Given the description of an element on the screen output the (x, y) to click on. 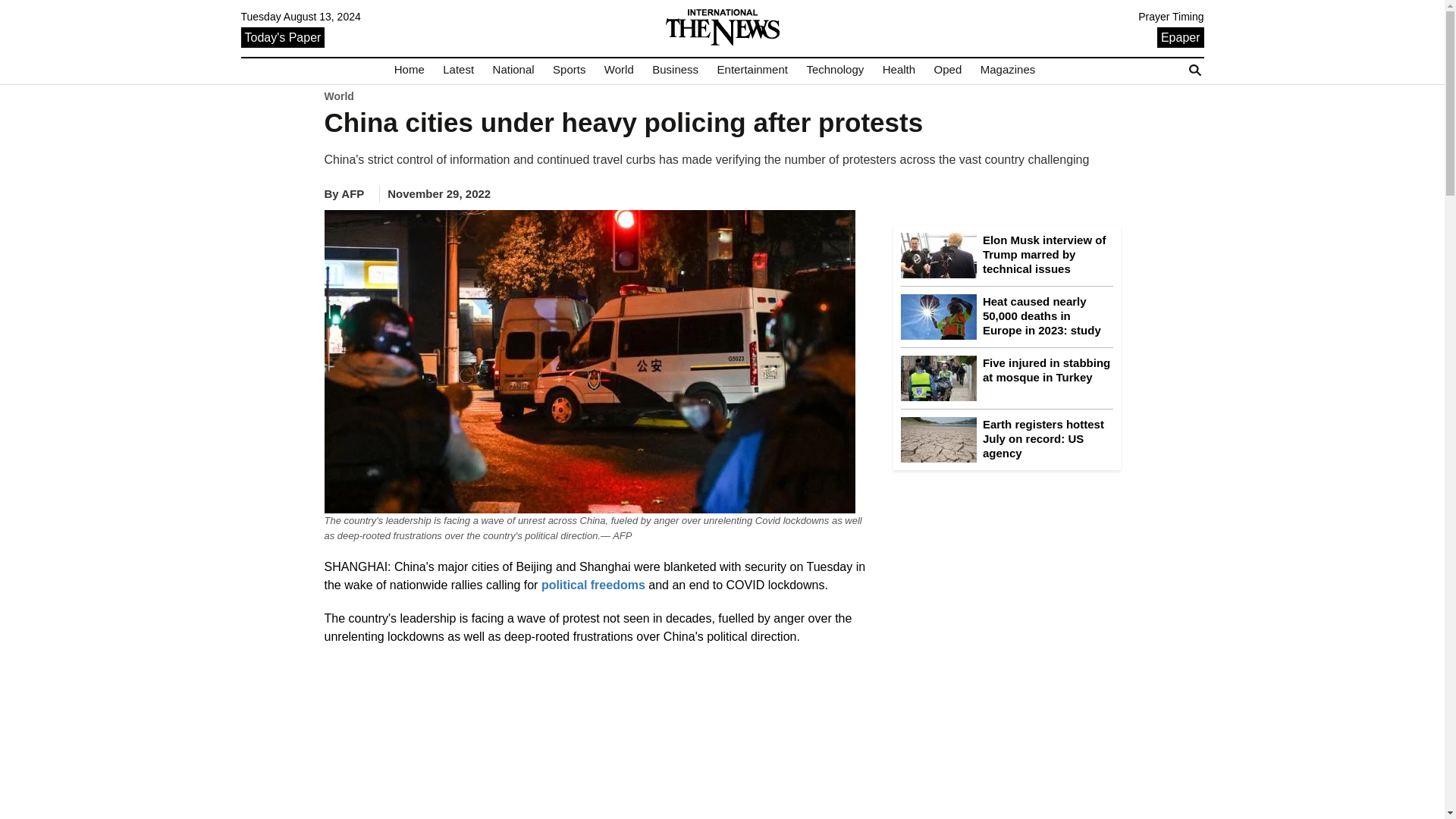
Today's Paper (282, 37)
Epaper (1180, 37)
Prayer Timing (1171, 16)
Health (899, 69)
Technology (833, 69)
Entertainment (752, 69)
Business (675, 69)
Home (409, 69)
Latest (458, 69)
National (512, 69)
